Given the description of an element on the screen output the (x, y) to click on. 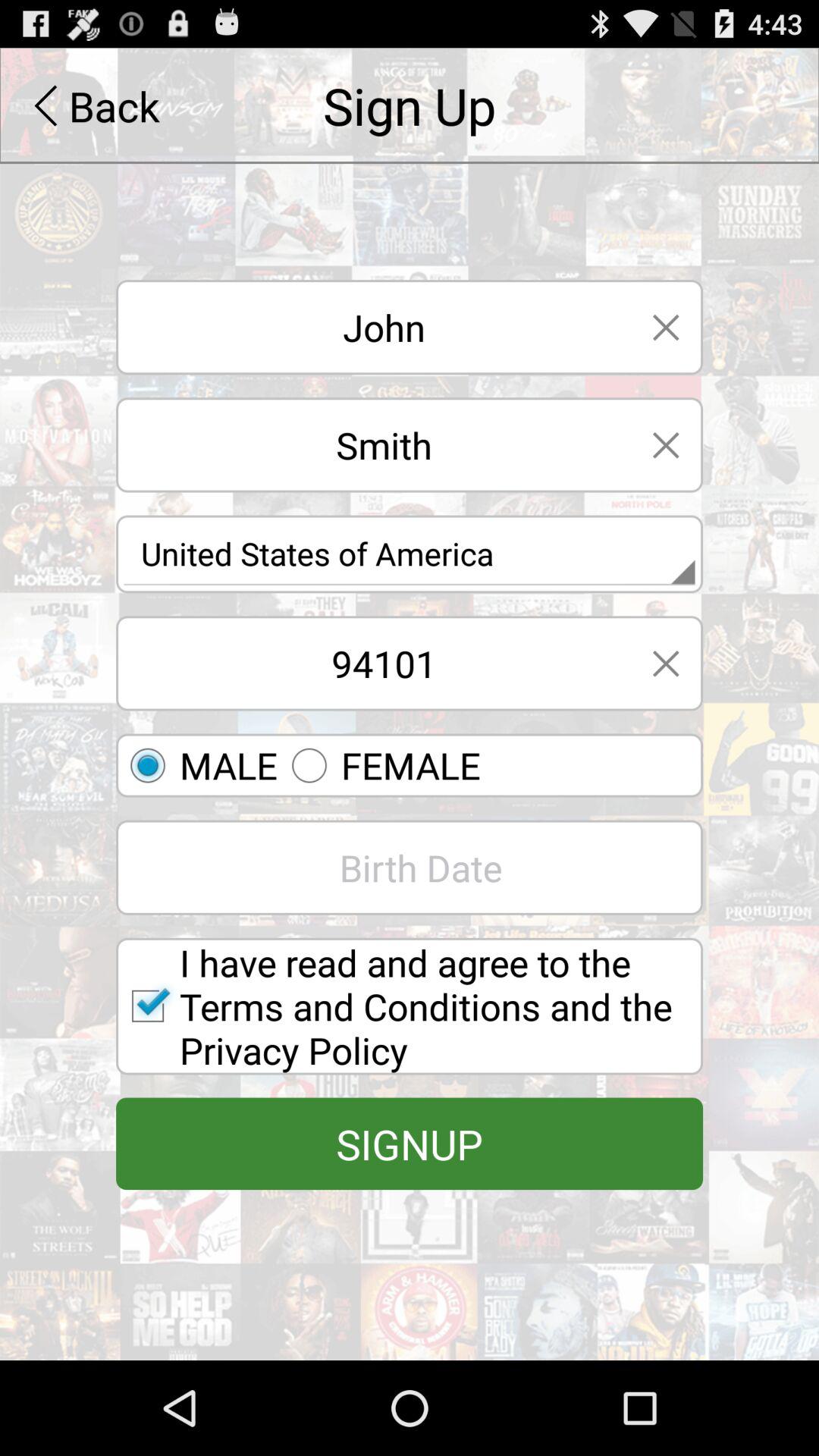
enter birth date (409, 867)
